Given the description of an element on the screen output the (x, y) to click on. 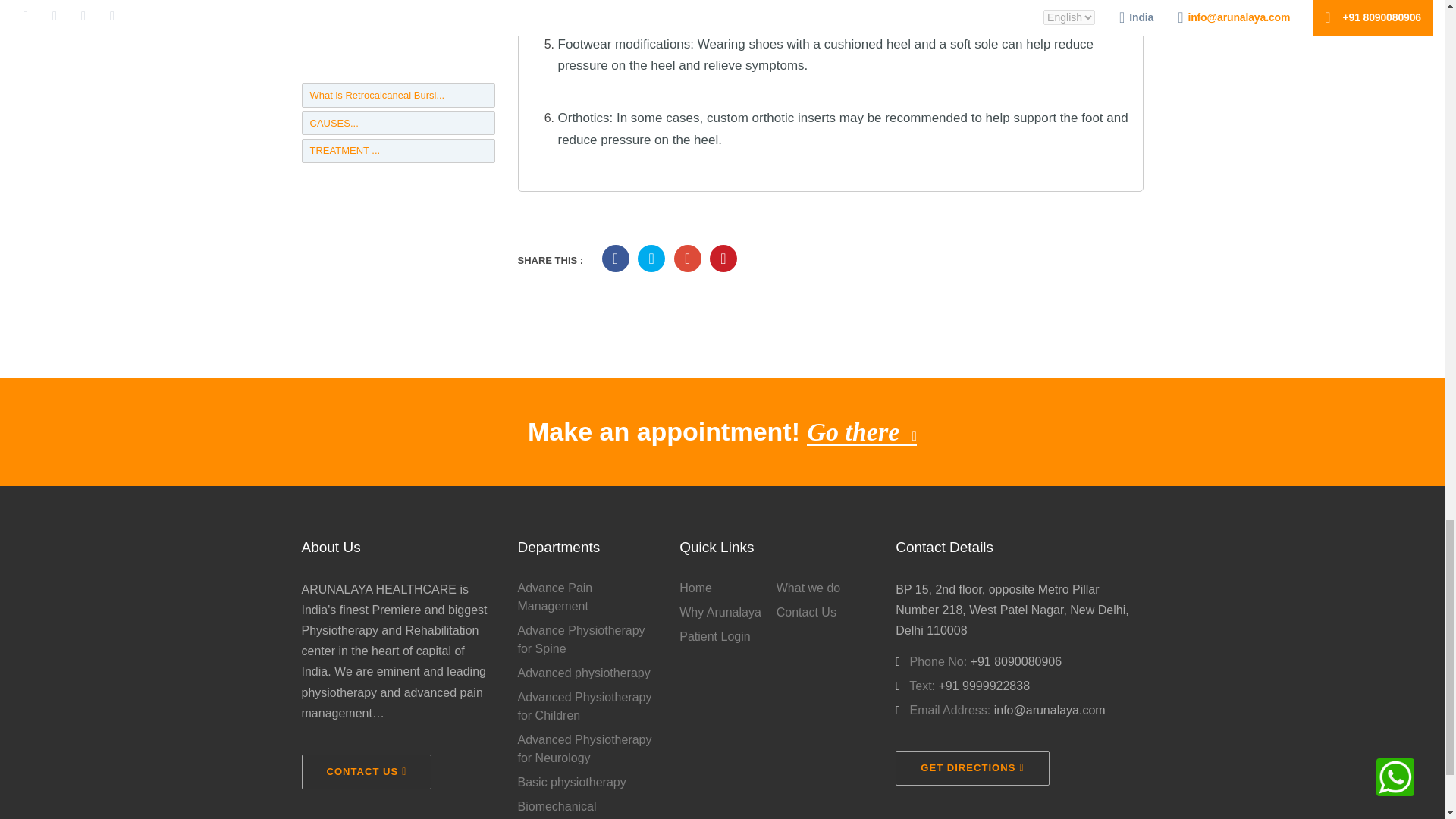
Advanced physiotherapy (586, 673)
Go there (861, 431)
Advance Pain Management (586, 597)
Contact Us (824, 612)
Why Arunalaya (727, 612)
Advanced Physiotherapy for Children (586, 706)
Biomechanical Assessment (586, 808)
Advance Physiotherapy for Spine (586, 639)
What we do (824, 588)
Advanced Physiotherapy for Neurology (586, 749)
Home (727, 588)
Go there (861, 431)
CONTACT US (366, 771)
Basic physiotherapy (586, 782)
